Given the description of an element on the screen output the (x, y) to click on. 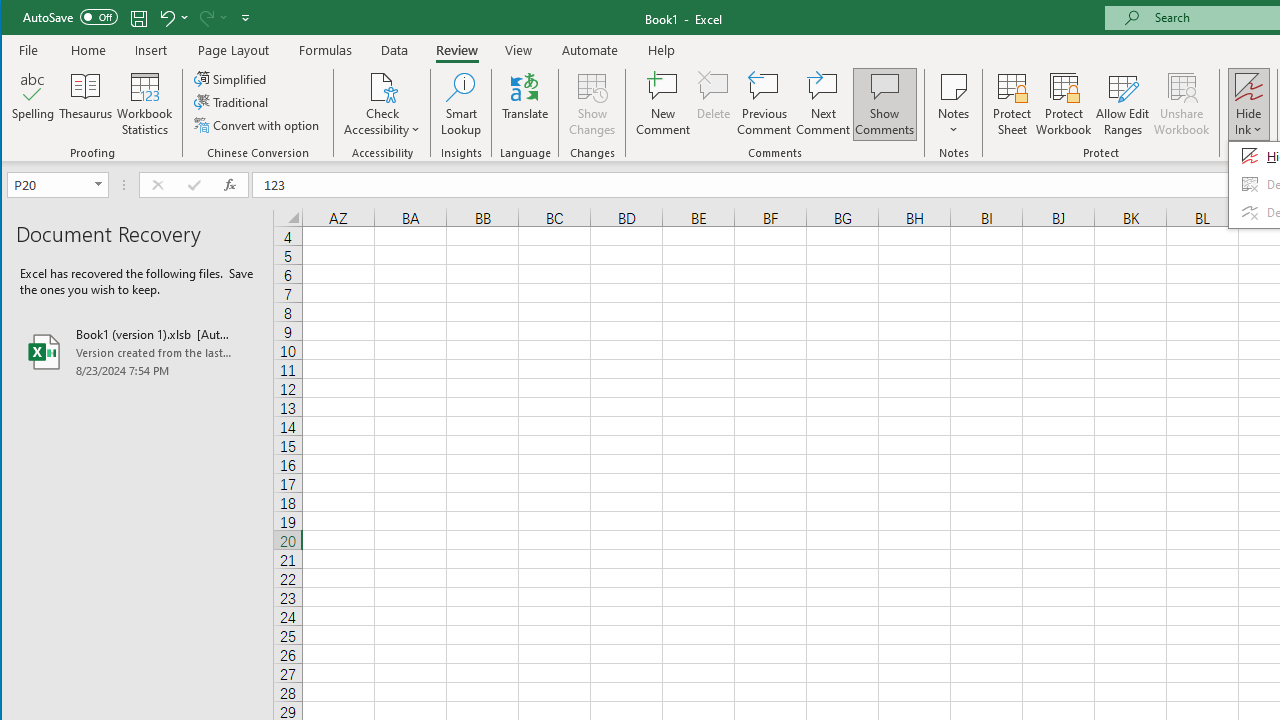
Spelling... (33, 104)
Thesaurus... (86, 104)
Workbook Statistics (145, 104)
Convert with option (258, 124)
Show Changes (592, 104)
